Given the description of an element on the screen output the (x, y) to click on. 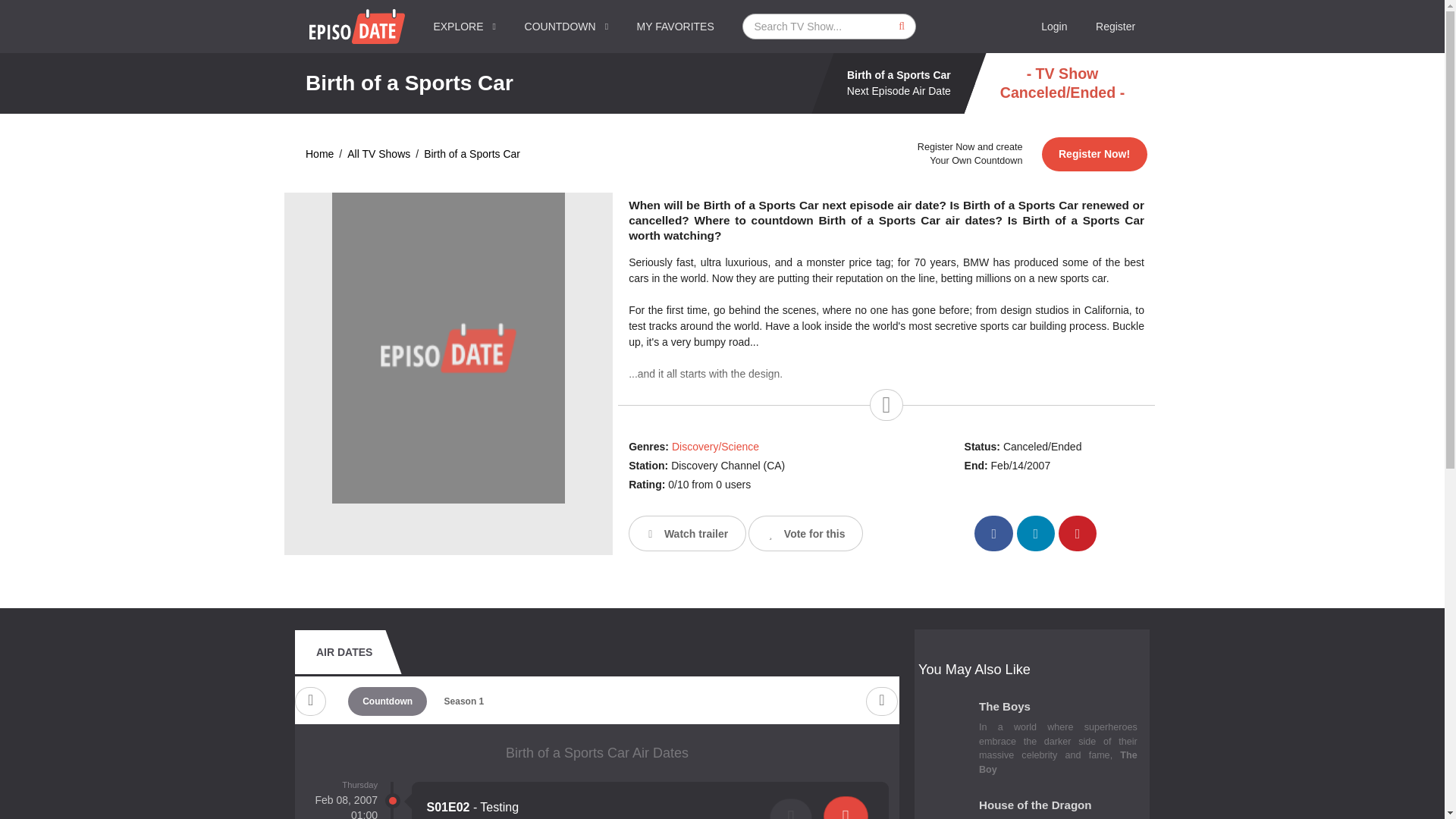
All TV Shows (378, 154)
Vote for this (805, 533)
Register (1115, 26)
Birth of a Sports Car (471, 154)
Login (1053, 26)
Home (319, 154)
Watch trailer (686, 533)
MY FAVORITES (676, 26)
AIR DATES (344, 651)
Register Now! (1094, 154)
